Given the description of an element on the screen output the (x, y) to click on. 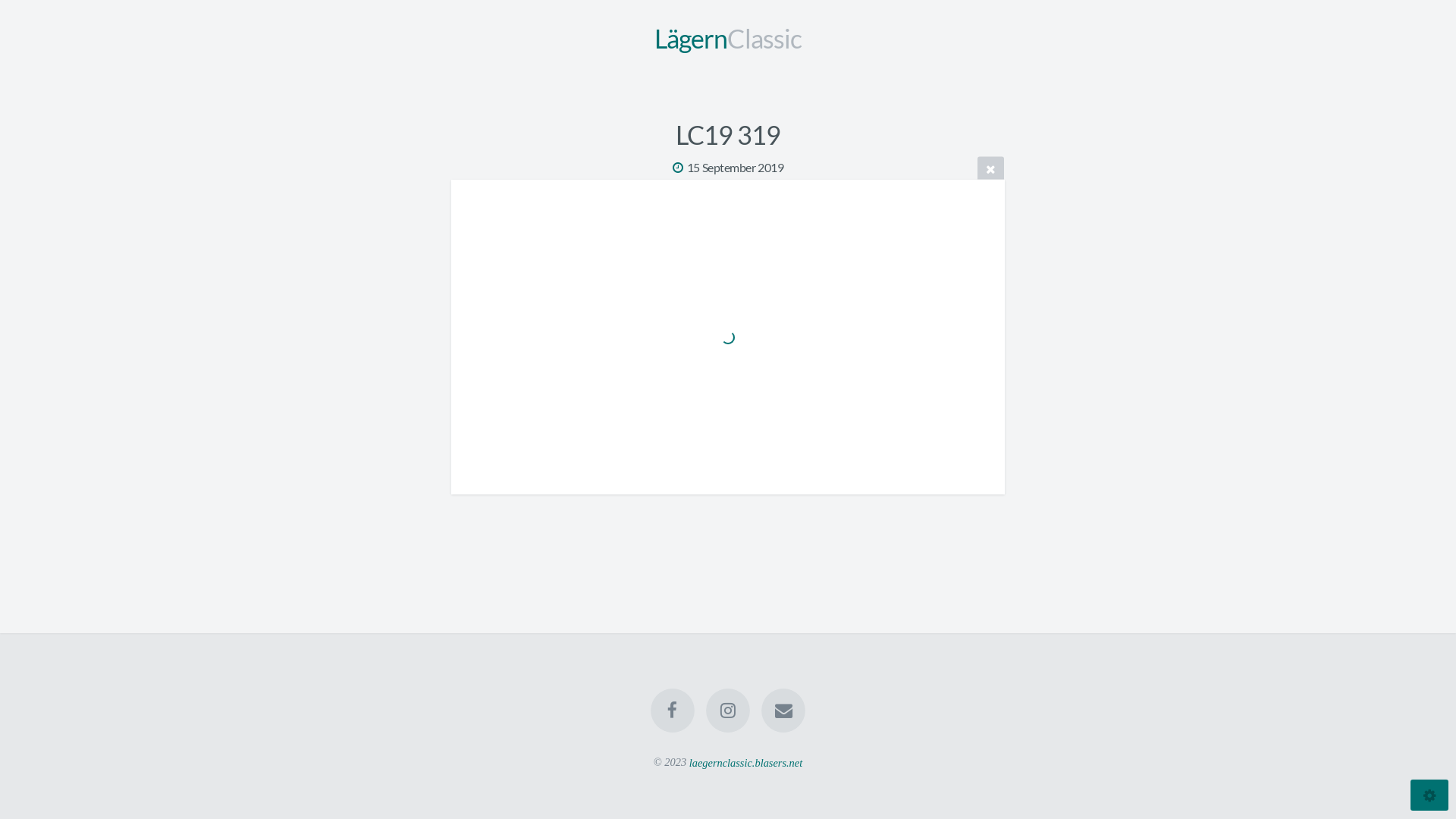
laegernclassic.blasers.net Element type: text (745, 762)
